Given the description of an element on the screen output the (x, y) to click on. 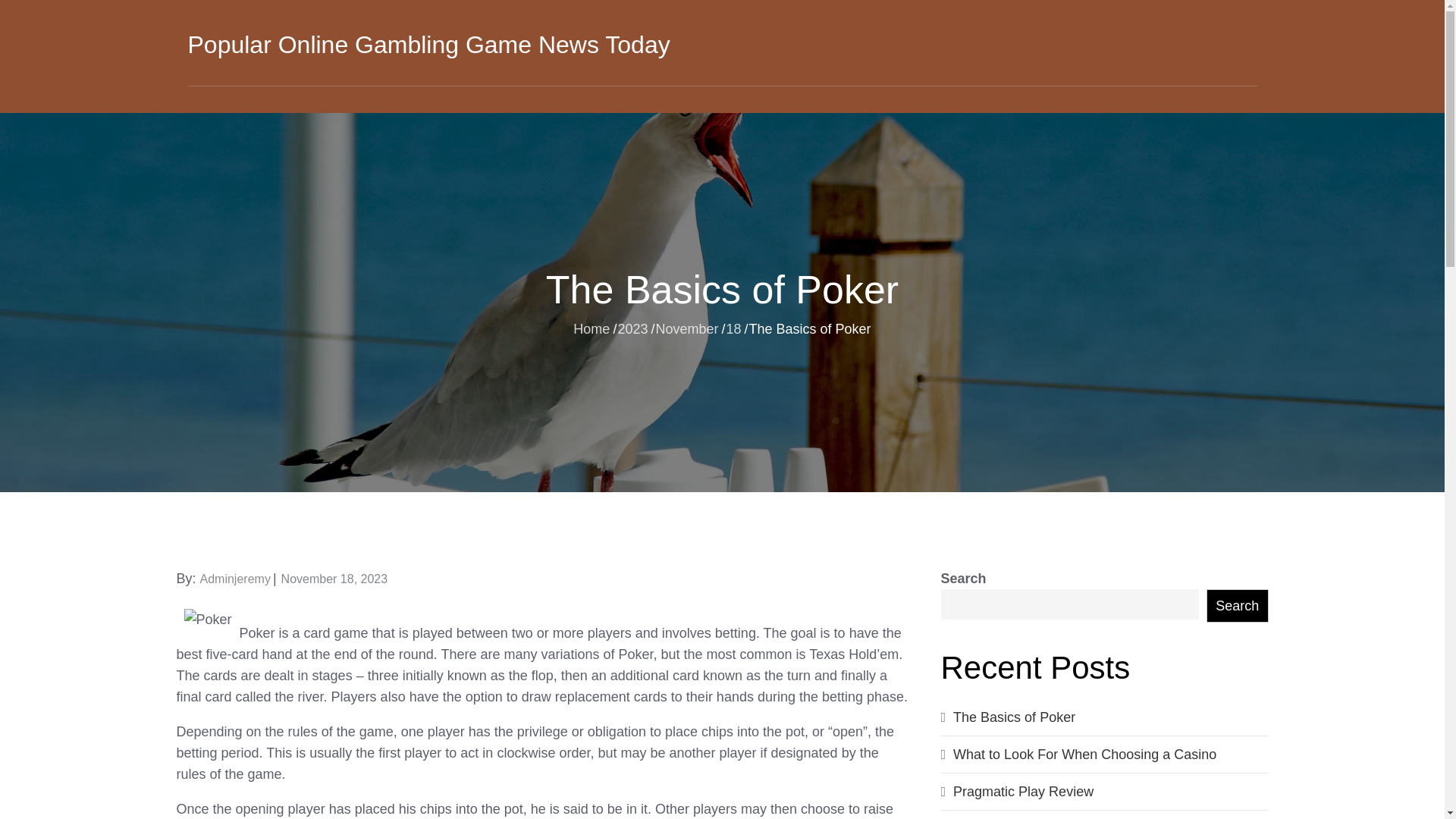
Popular Online Gambling Game News Today (428, 44)
The Basics of Poker (1014, 717)
Pragmatic Play Review (1023, 791)
November (686, 328)
Search (1237, 605)
Adminjeremy (235, 578)
November 18, 2023 (334, 578)
18 (733, 328)
2023 (632, 328)
What to Look For When Choosing a Casino (1084, 754)
Home (591, 328)
